Given the description of an element on the screen output the (x, y) to click on. 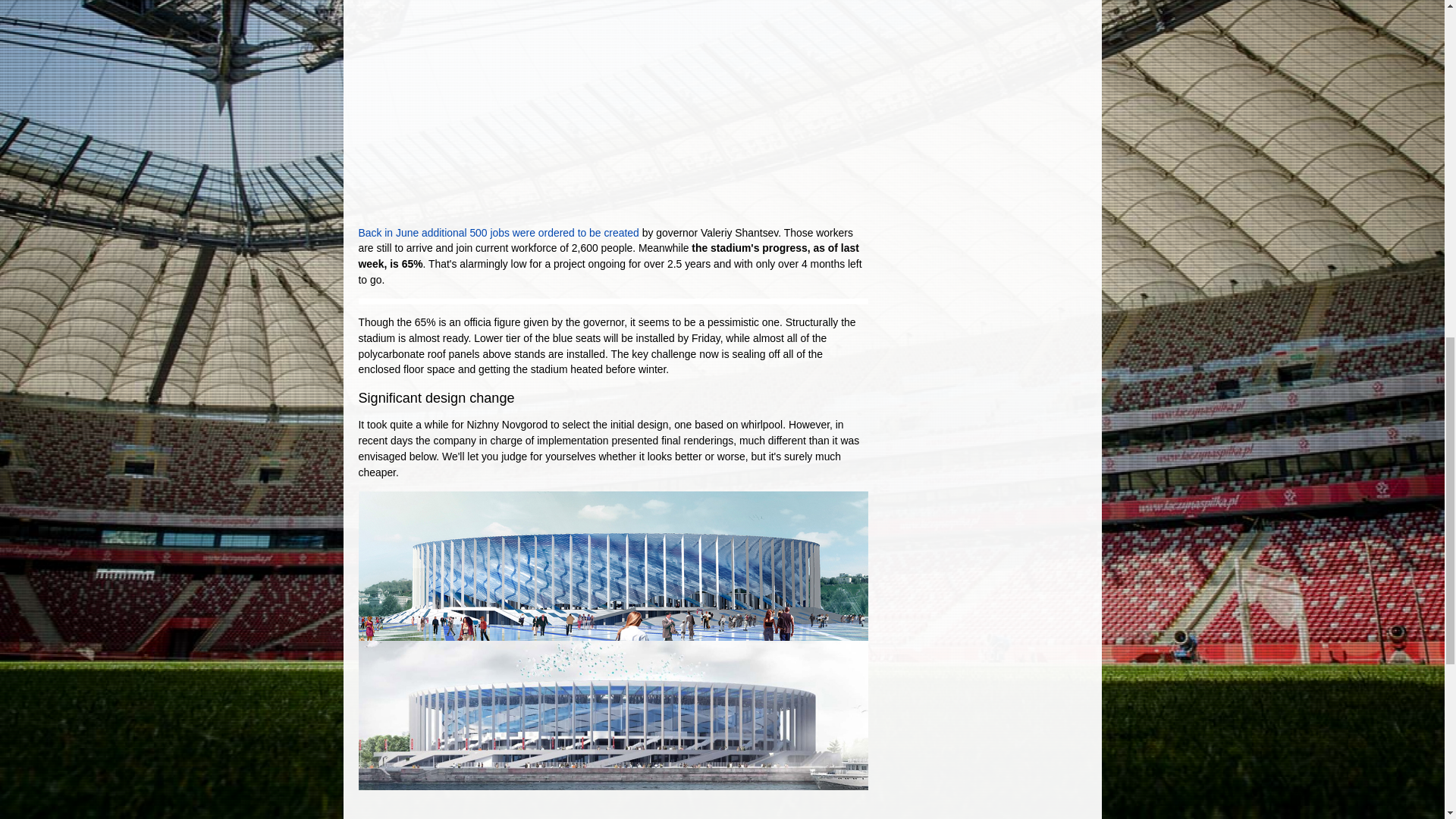
Back in June additional 500 jobs were ordered to be created (498, 232)
